Given the description of an element on the screen output the (x, y) to click on. 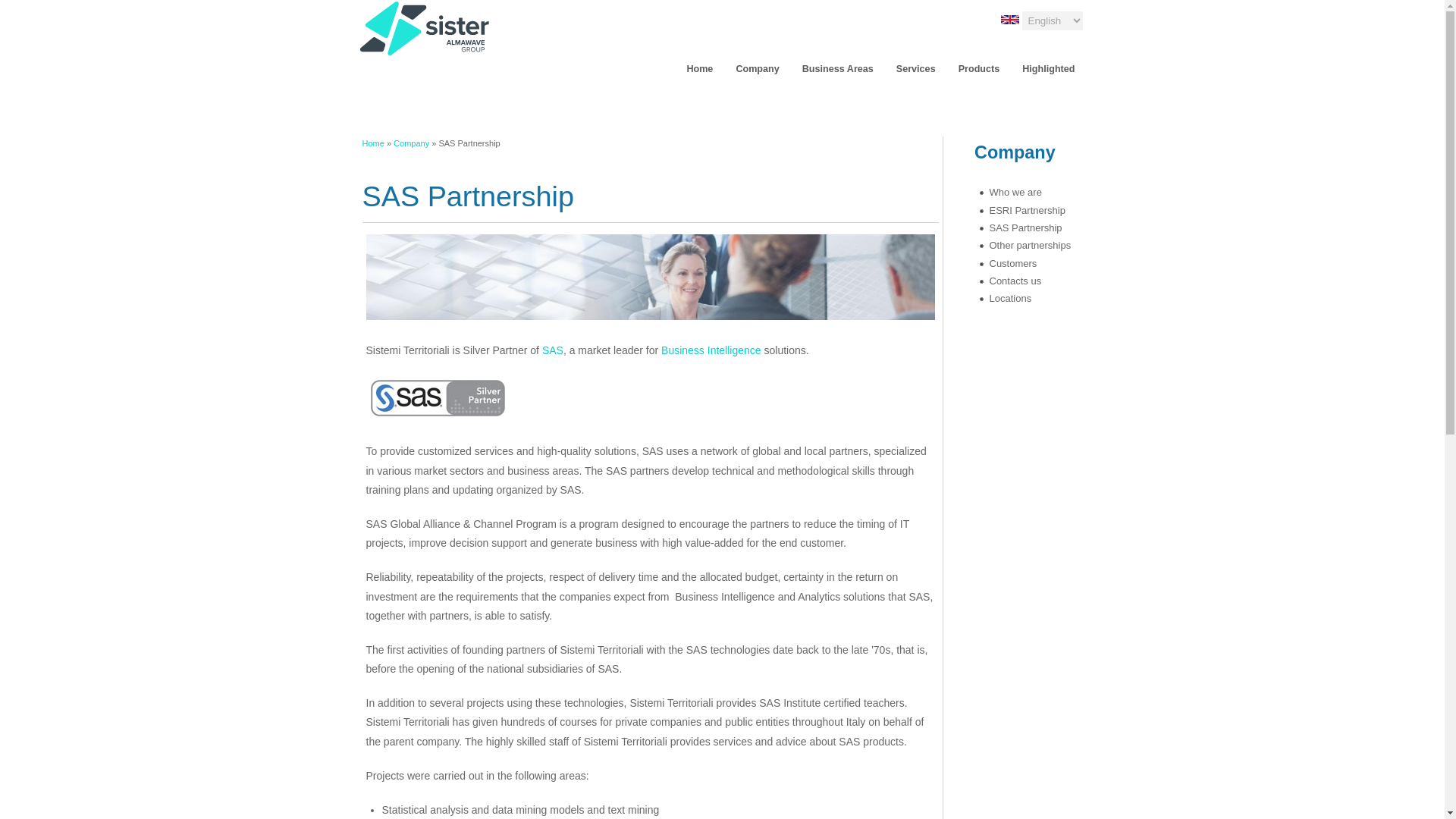
Home (722, 28)
Home (699, 68)
Company (756, 68)
Products (979, 68)
Business Areas (837, 68)
Highlighted (1048, 68)
Home (373, 143)
English (1010, 19)
Services (916, 68)
